Given the description of an element on the screen output the (x, y) to click on. 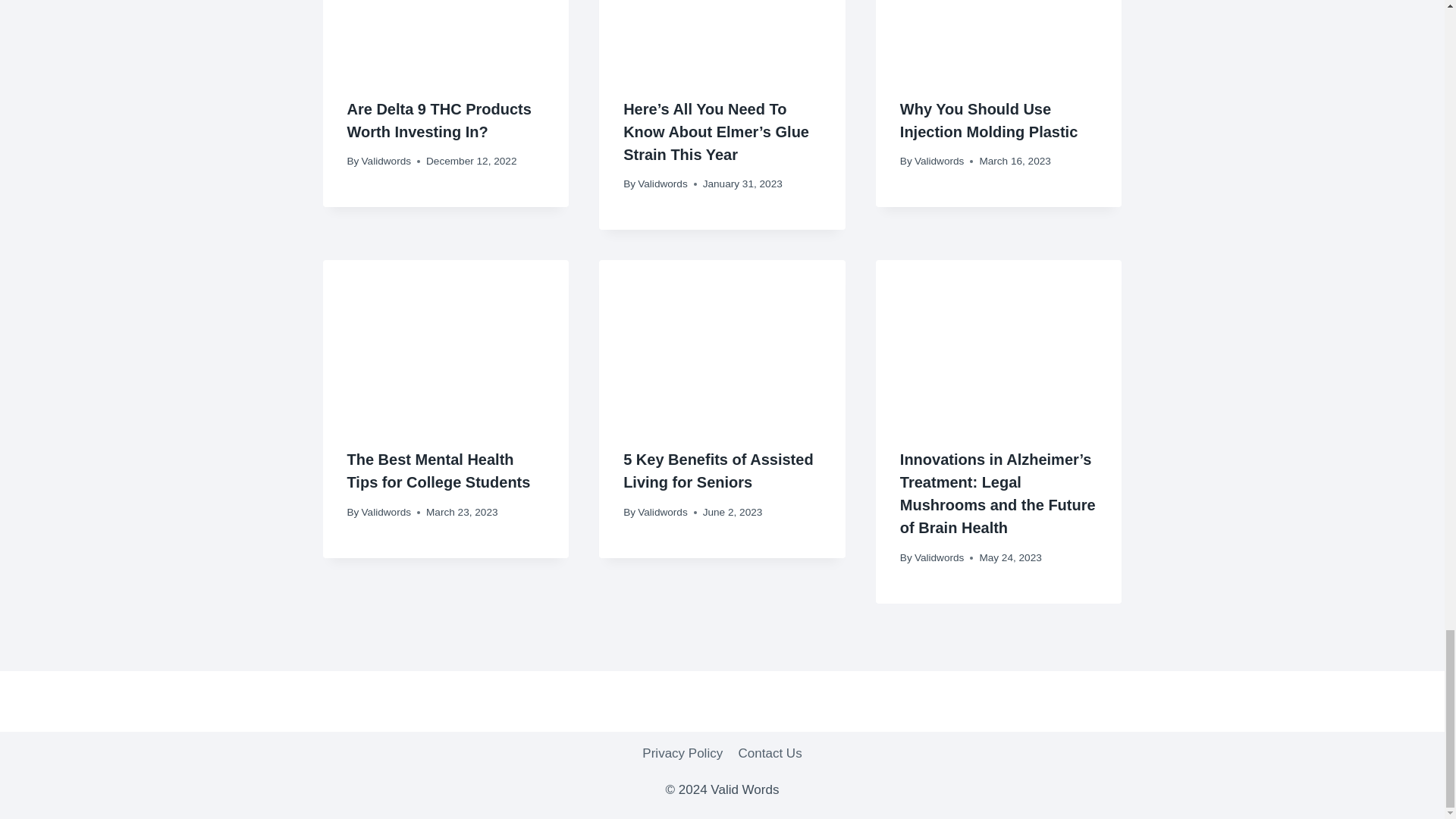
The Best Mental Health Tips for College Students 8 (446, 342)
Validwords (662, 183)
Why You Should Use Injection Molding Plastic 7 (999, 36)
Are Delta 9 THC Products Worth Investing In? (439, 120)
5 Key Benefits of Assisted Living for Seniors 9 (721, 342)
Are Delta 9 THC Products Worth Investing In? 2 (446, 36)
Validwords (385, 161)
